Given the description of an element on the screen output the (x, y) to click on. 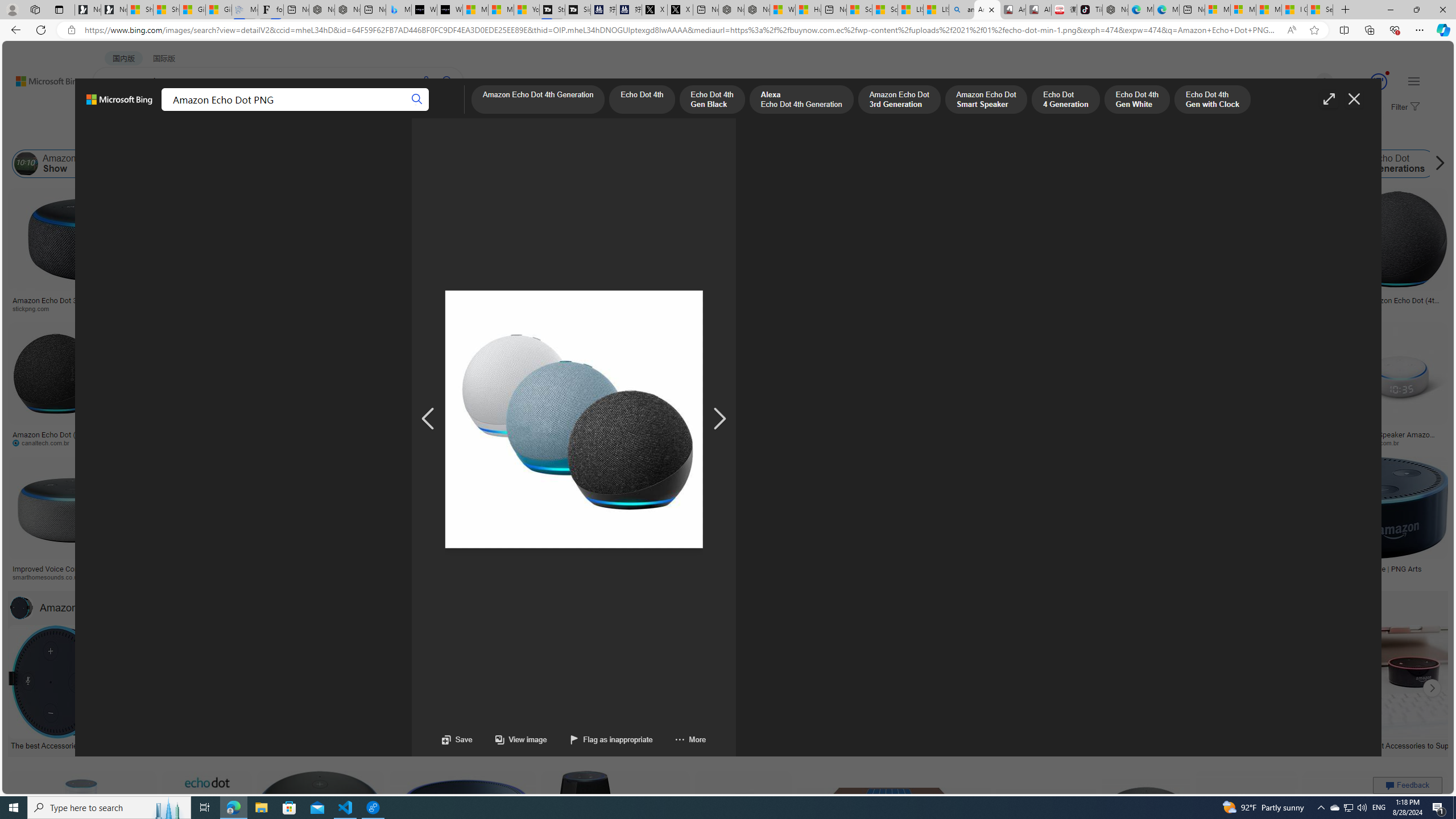
Alexa Dot Transparent Image | PNG Arts (1356, 568)
Filter (1403, 107)
Type (212, 135)
Amazon Echo Speaker (717, 163)
Date (336, 135)
Search button (447, 80)
pnghq.com (1150, 576)
